Given the description of an element on the screen output the (x, y) to click on. 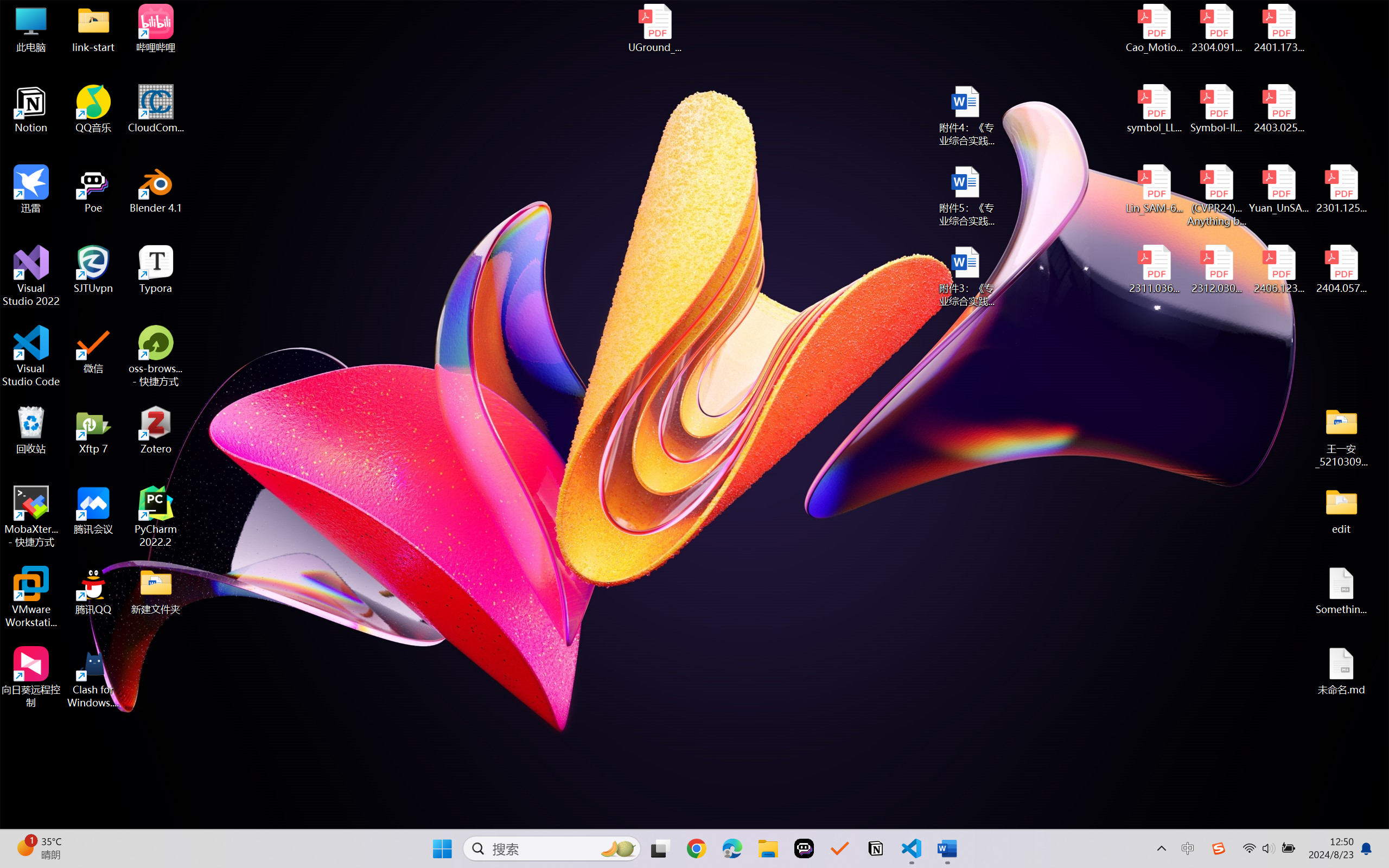
Symbol-llm-v2.pdf (1216, 109)
Blender 4.1 (156, 189)
symbol_LLM.pdf (1154, 109)
Microsoft Edge (731, 848)
Something.md (1340, 591)
